Given the description of an element on the screen output the (x, y) to click on. 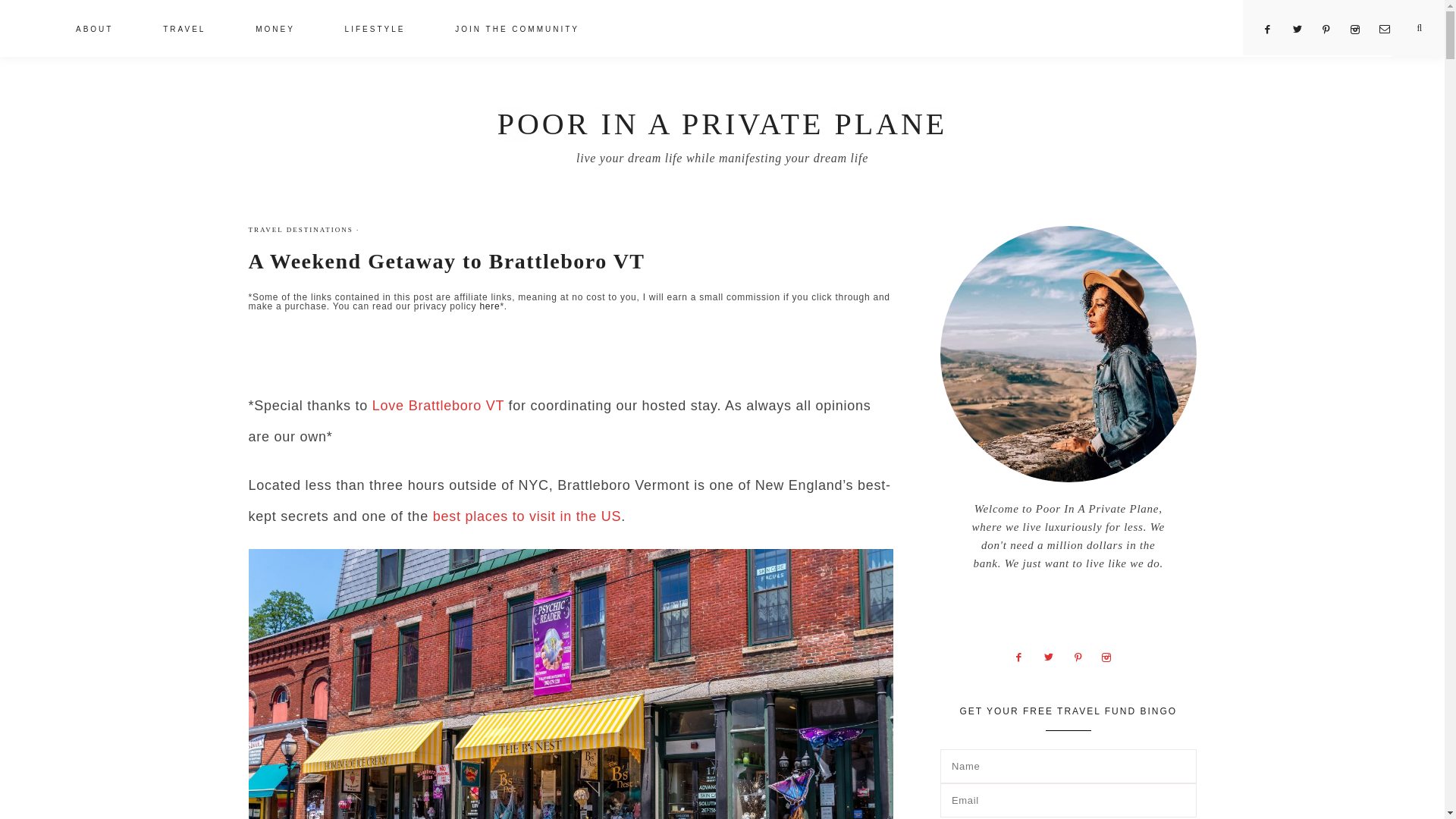
LIFESTYLE (374, 30)
JOIN THE COMMUNITY (517, 30)
Facebook (1272, 29)
Twitter (1303, 29)
Email Me (1390, 29)
Facebook (1023, 655)
Instagram (1112, 655)
POOR IN A PRIVATE PLANE (722, 123)
ABOUT (93, 30)
TRAVEL DESTINATIONS (300, 229)
MONEY (274, 30)
TRAVEL (183, 30)
Twitter (1054, 655)
Pinterest (1083, 655)
Pinterest (1331, 29)
